Given the description of an element on the screen output the (x, y) to click on. 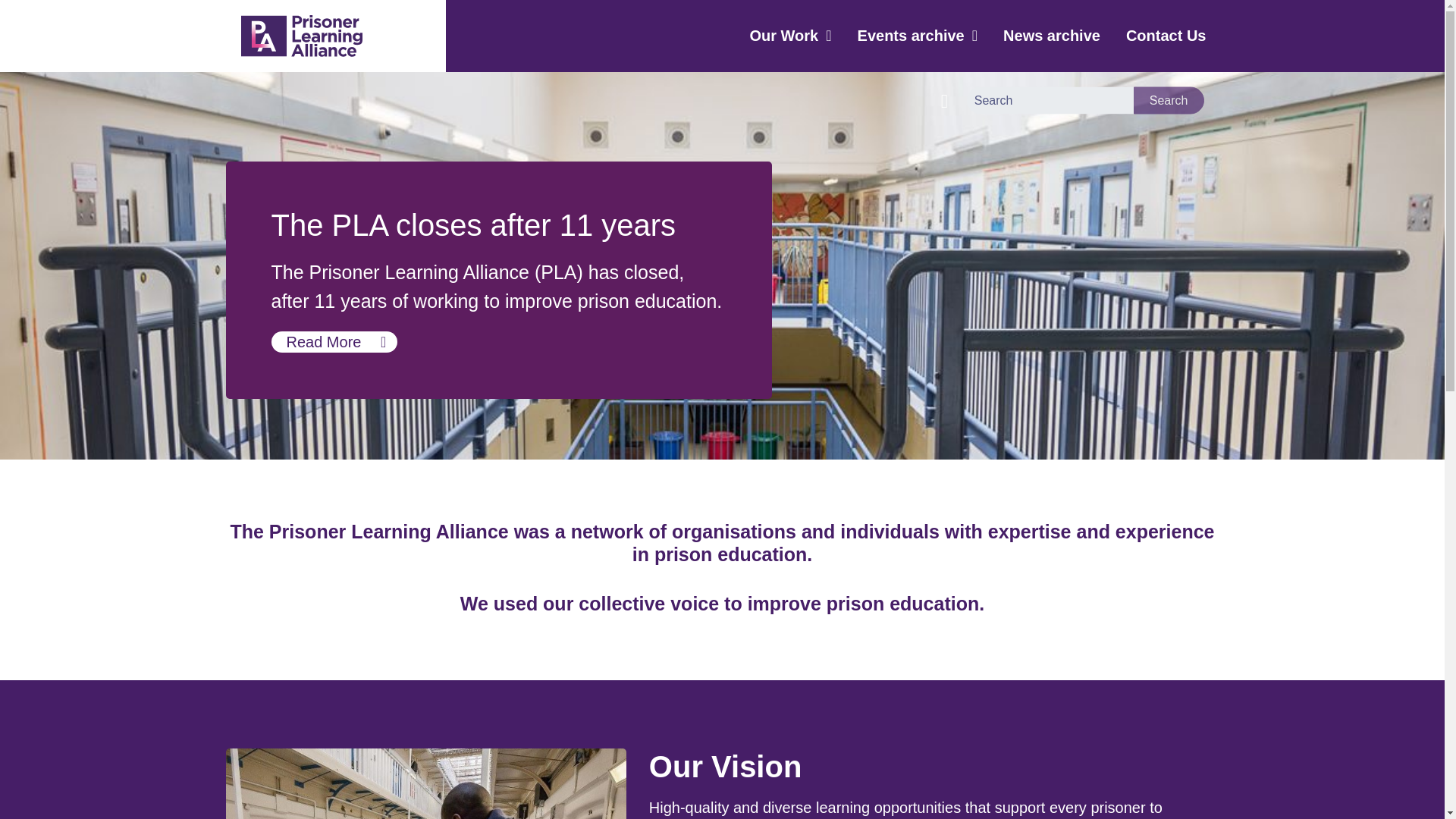
News archive (1051, 36)
The PLA closes after 11 years (333, 341)
Search (1169, 100)
Contact Us (1166, 36)
Search (1169, 100)
Our Work (790, 36)
Search (1169, 100)
Events archive (917, 36)
Read More (333, 341)
